Given the description of an element on the screen output the (x, y) to click on. 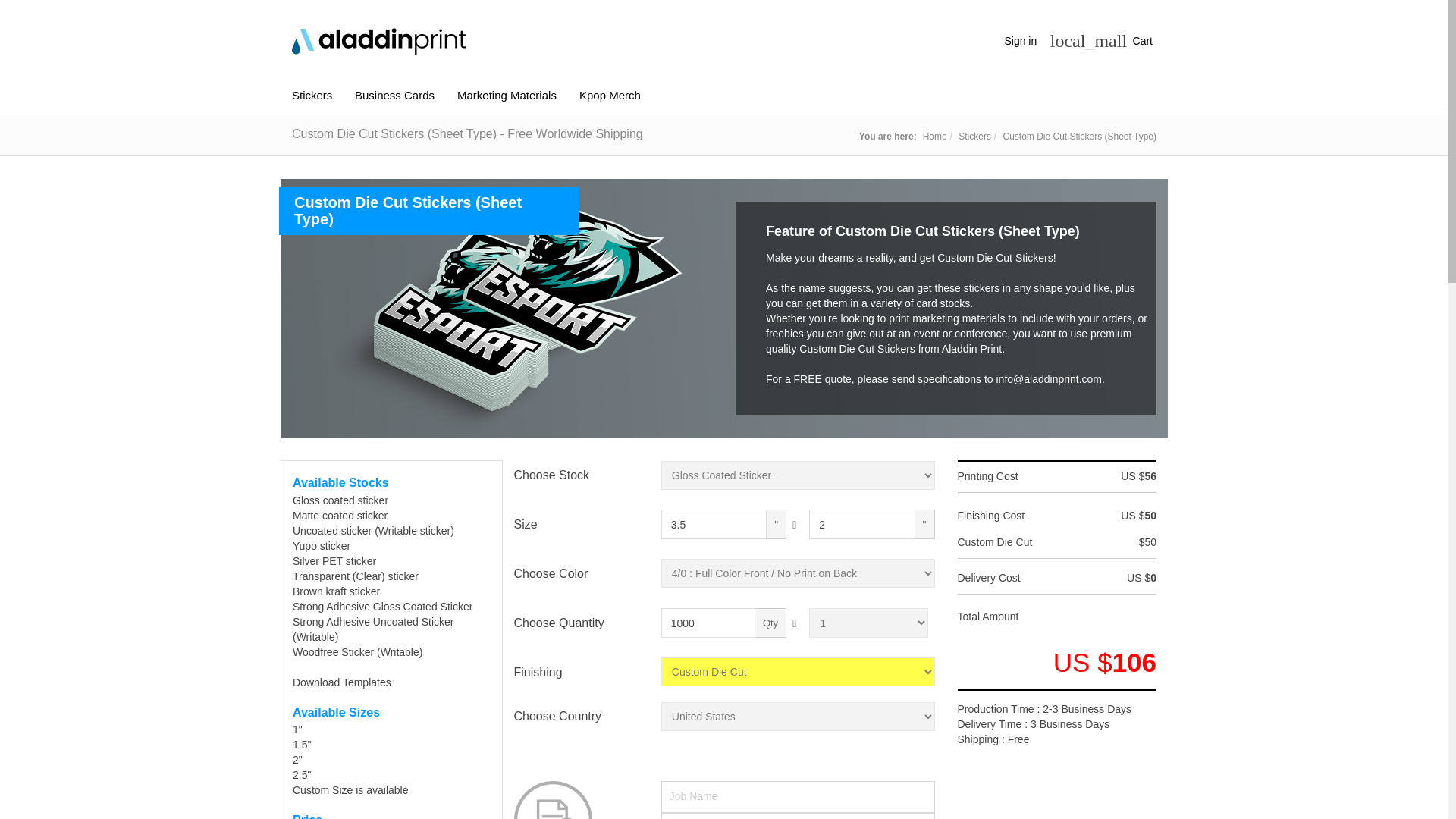
3.5 (714, 523)
Sign in (1023, 41)
1000 (708, 623)
2 (861, 523)
